Given the description of an element on the screen output the (x, y) to click on. 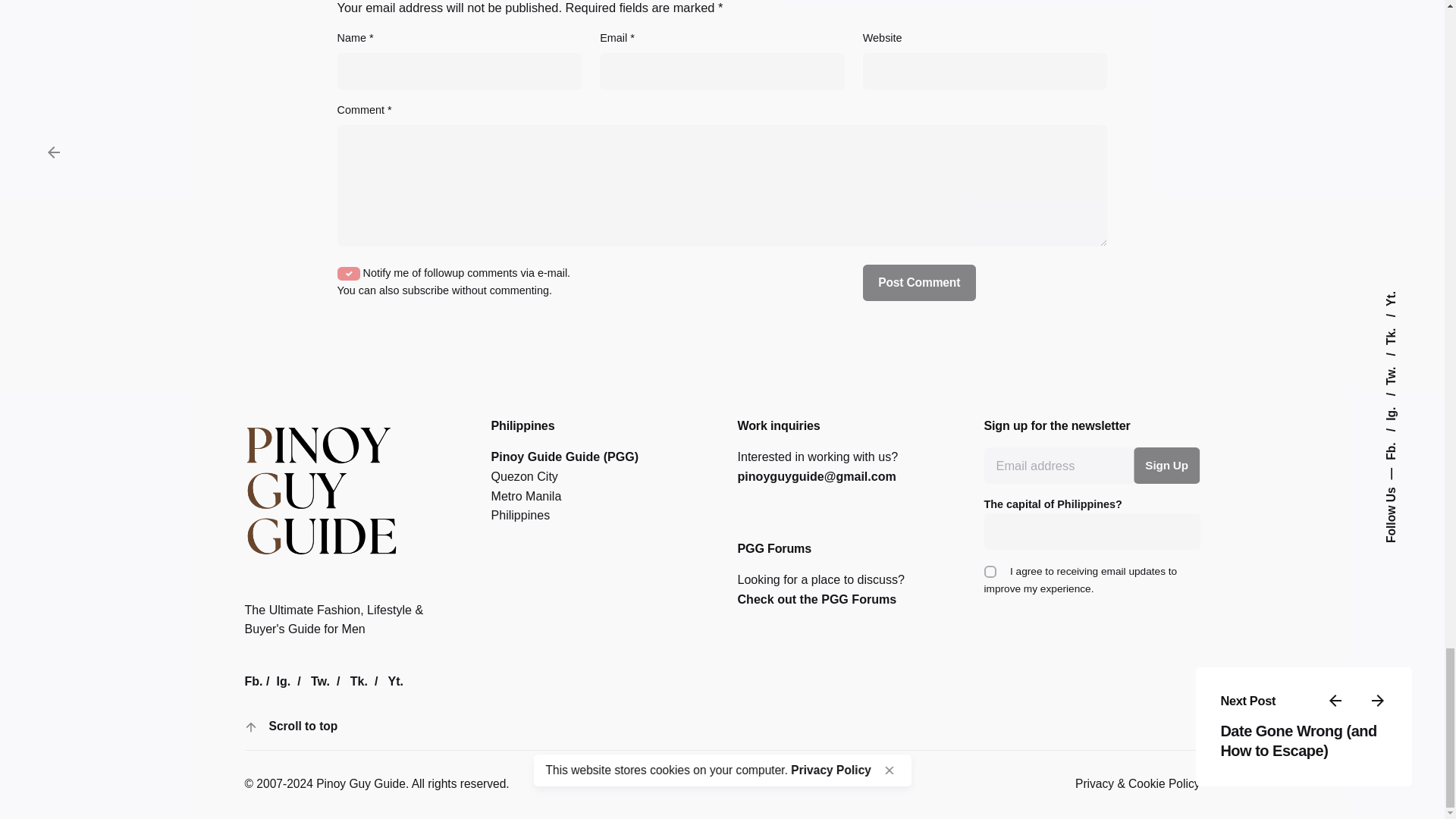
Scroll to top (302, 726)
Scroll to top (284, 726)
I agree to receiving email updates to improve my experience. (989, 571)
Post Comment (919, 282)
Sign Up (1166, 465)
yes (348, 273)
